Given the description of an element on the screen output the (x, y) to click on. 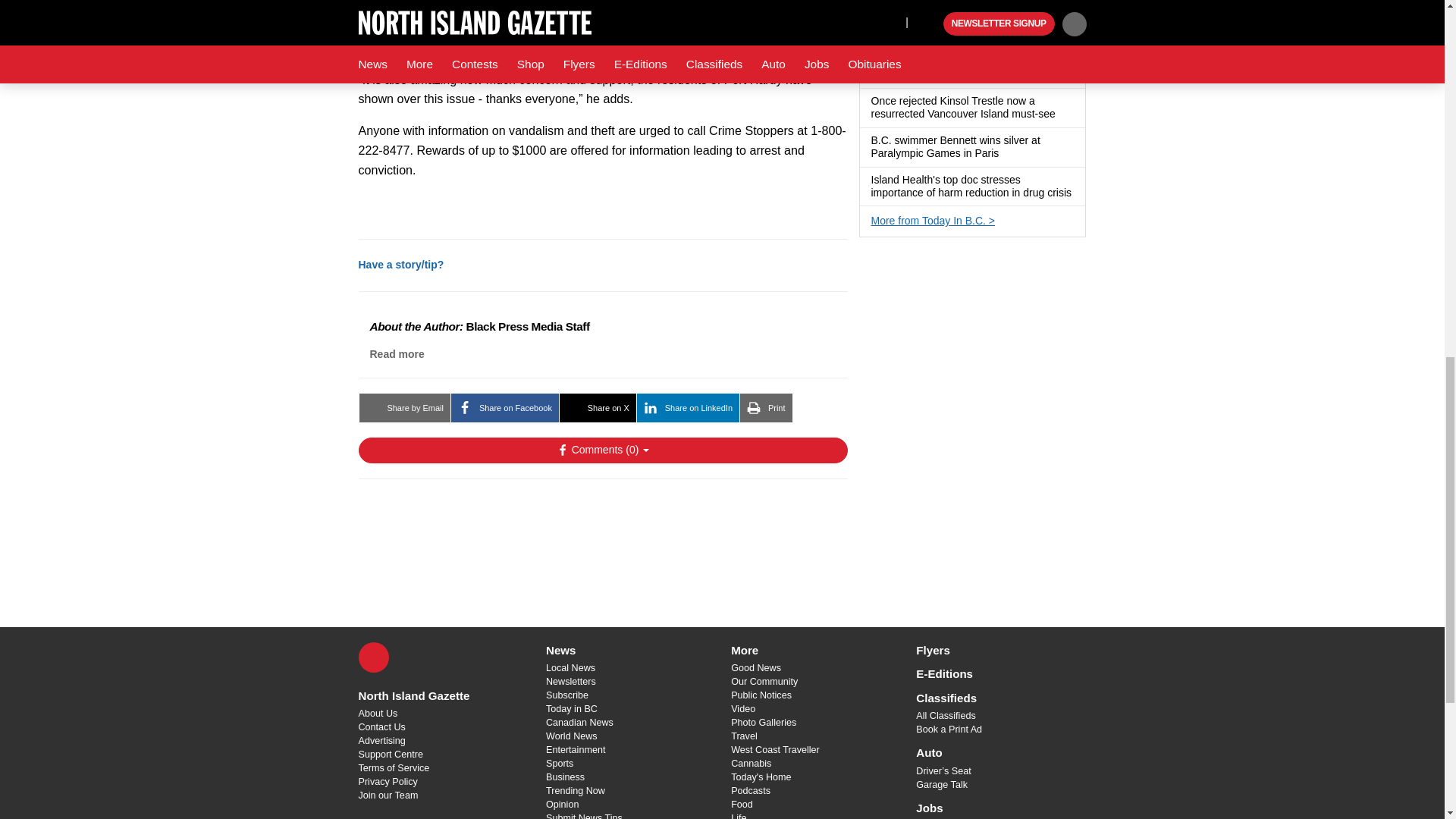
Show Comments (602, 450)
X (373, 657)
Has a gallery (1064, 114)
